Given the description of an element on the screen output the (x, y) to click on. 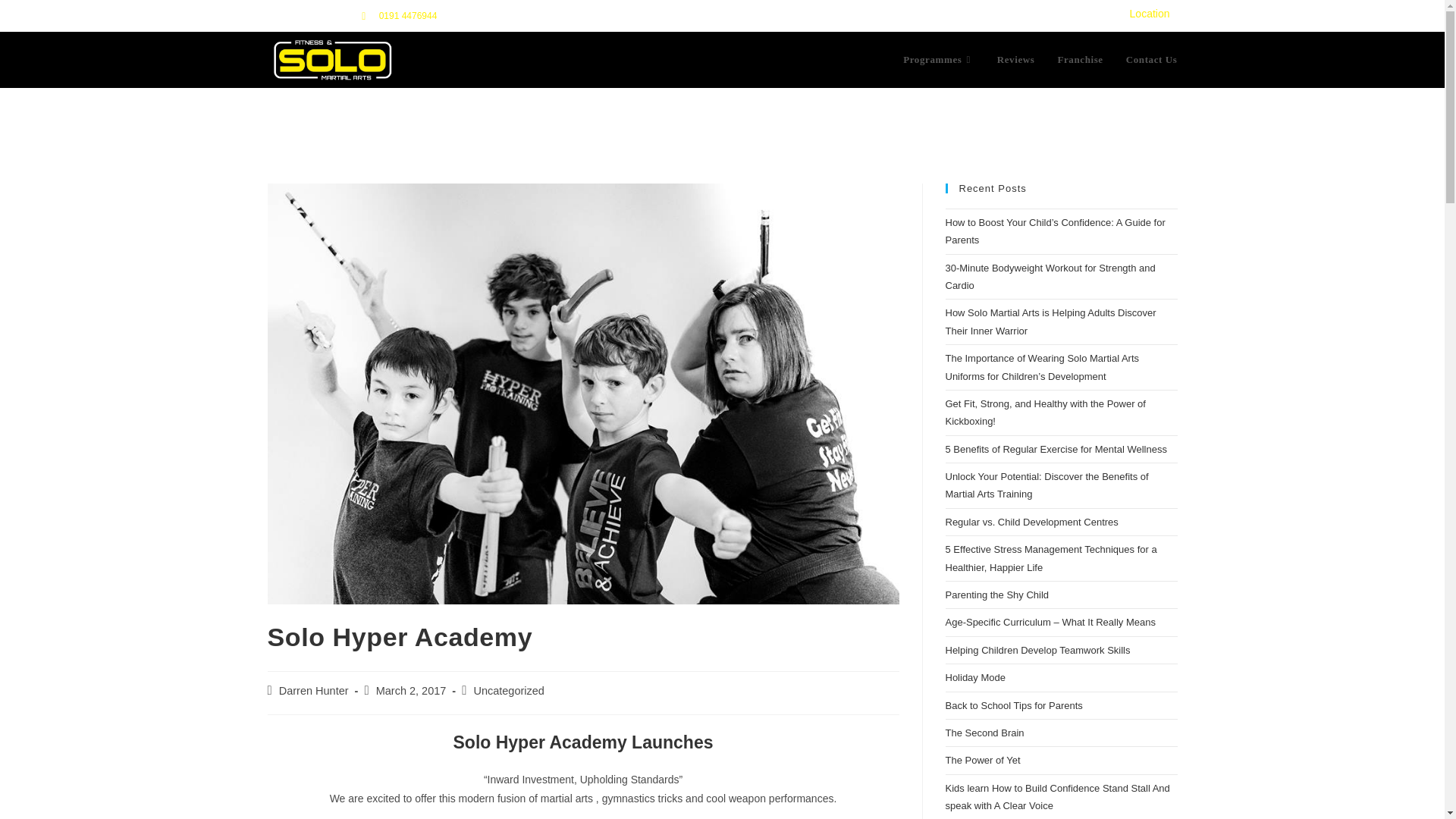
0191 4476944 (409, 16)
Contact Us (1152, 59)
Reviews (1015, 59)
Programmes (938, 59)
Franchise (1079, 59)
Uncategorized (508, 690)
Posts by Darren Hunter (314, 690)
Location (1149, 13)
Darren Hunter (314, 690)
